Given the description of an element on the screen output the (x, y) to click on. 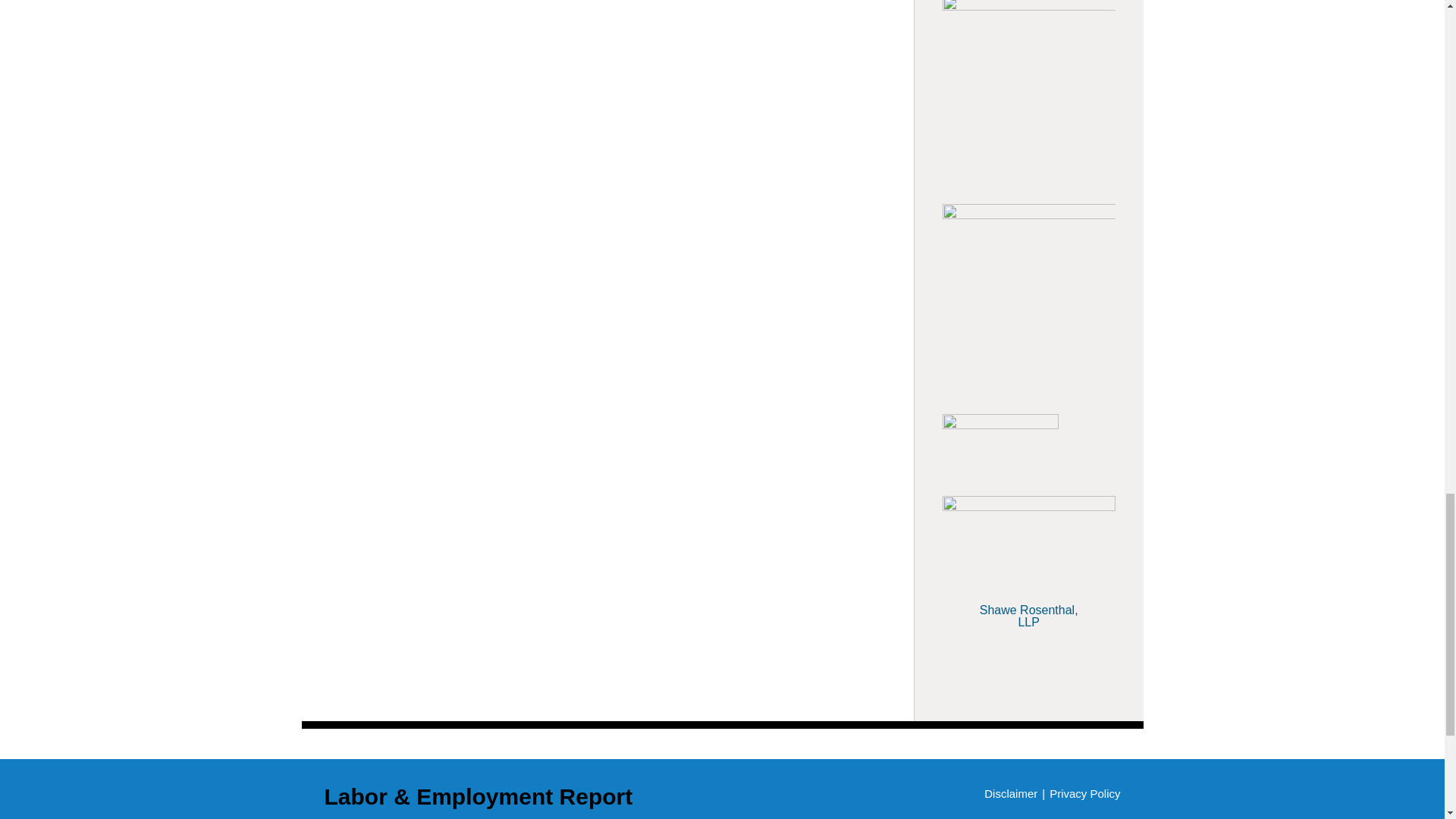
Shawe Rosenthal, LLP (1028, 606)
Privacy Policy (1084, 793)
Disclaimer (1010, 793)
Firms Featured in Super Lawyers - Business Edition (1028, 660)
View the profile of Maryland  Law Firm Shawe Rosenthal, LLP (1028, 606)
